Given the description of an element on the screen output the (x, y) to click on. 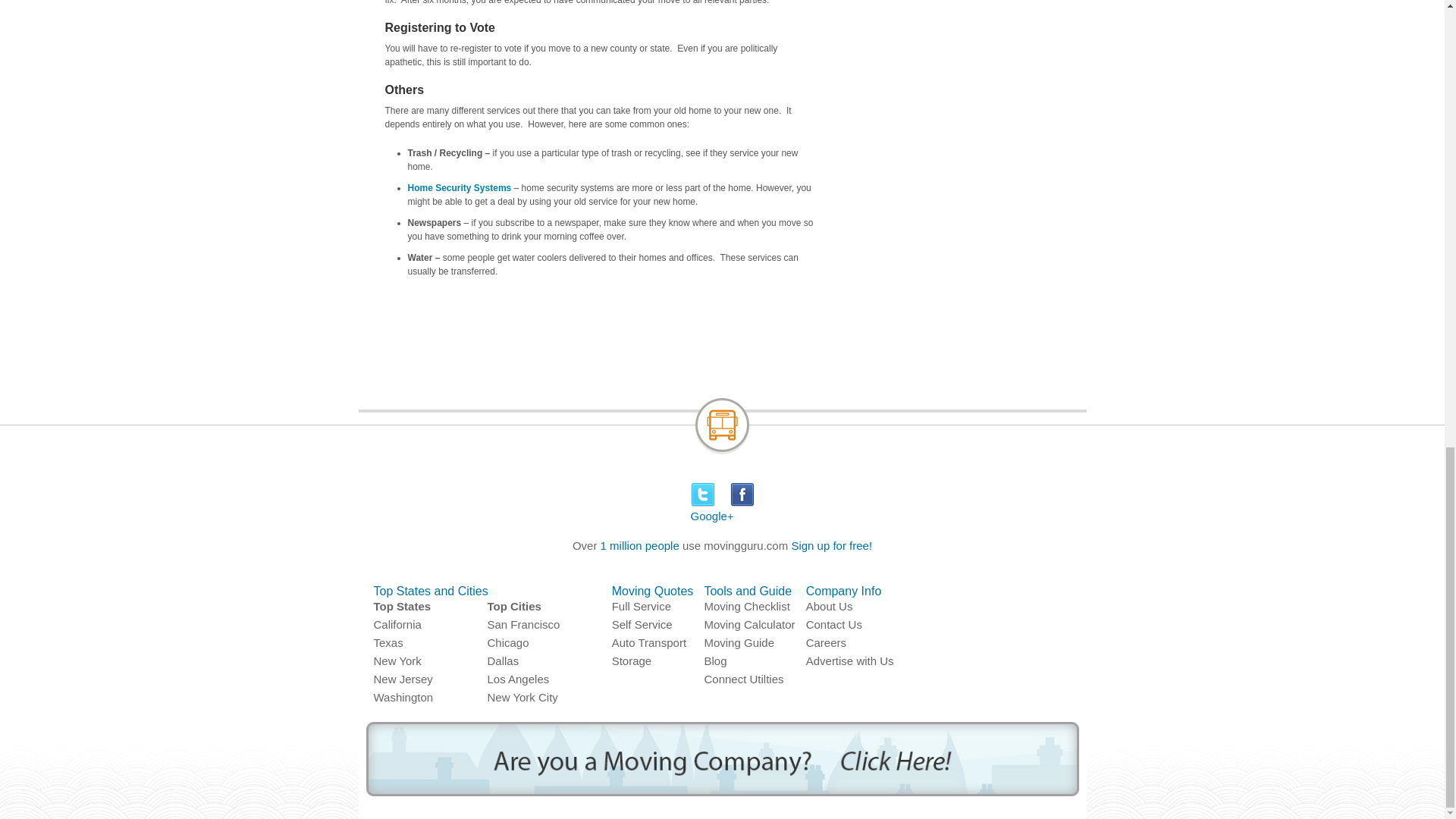
Movers Chicago (507, 642)
California (396, 624)
Texas (387, 642)
Movers New York (396, 660)
Movers Los Angeles (517, 678)
New York (396, 660)
Movers Dallas (502, 660)
Home Security Systems (459, 187)
Movers California (396, 624)
Movers San Francisco (522, 624)
